Given the description of an element on the screen output the (x, y) to click on. 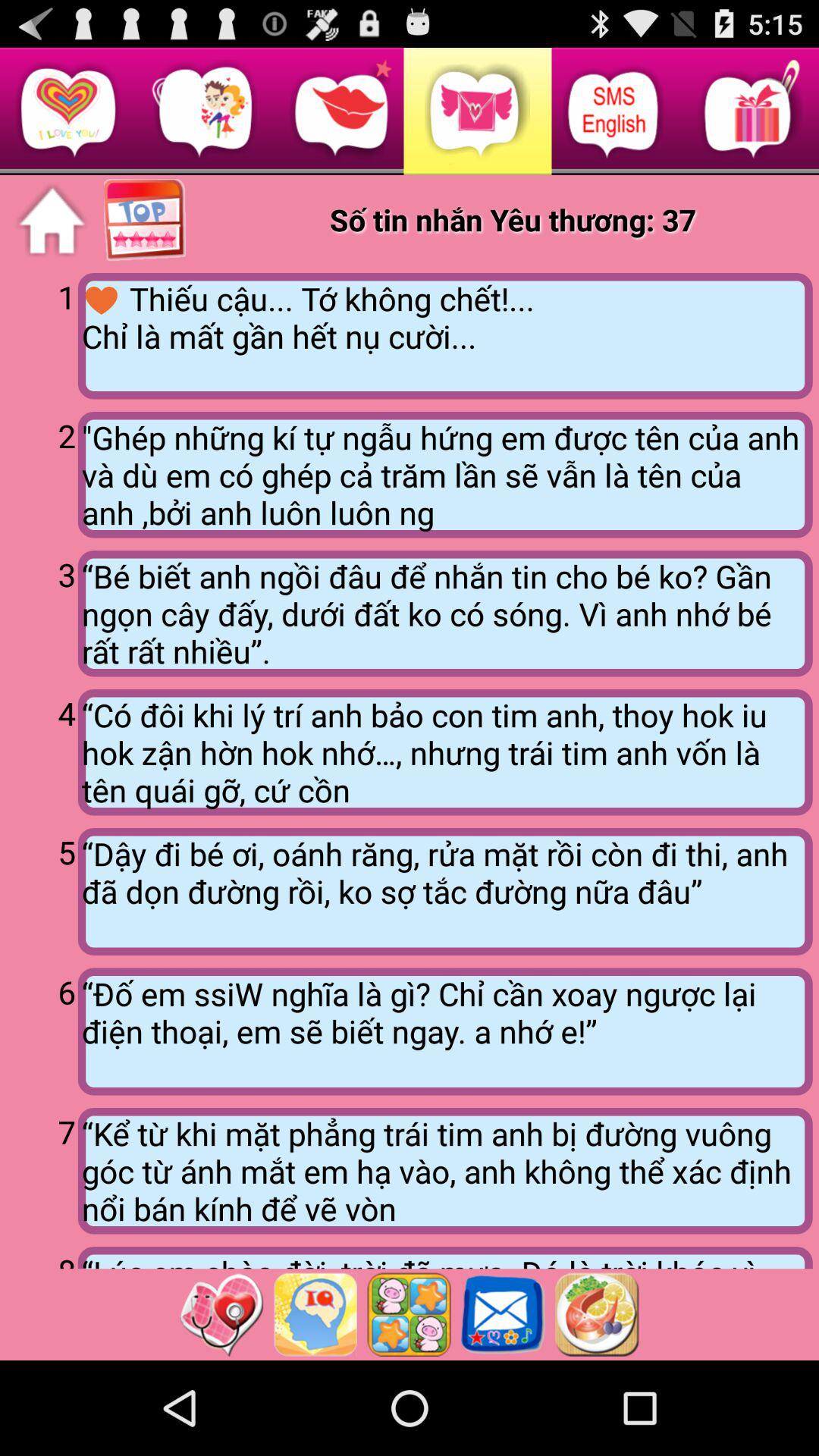
pull up messages (502, 1314)
